Given the description of an element on the screen output the (x, y) to click on. 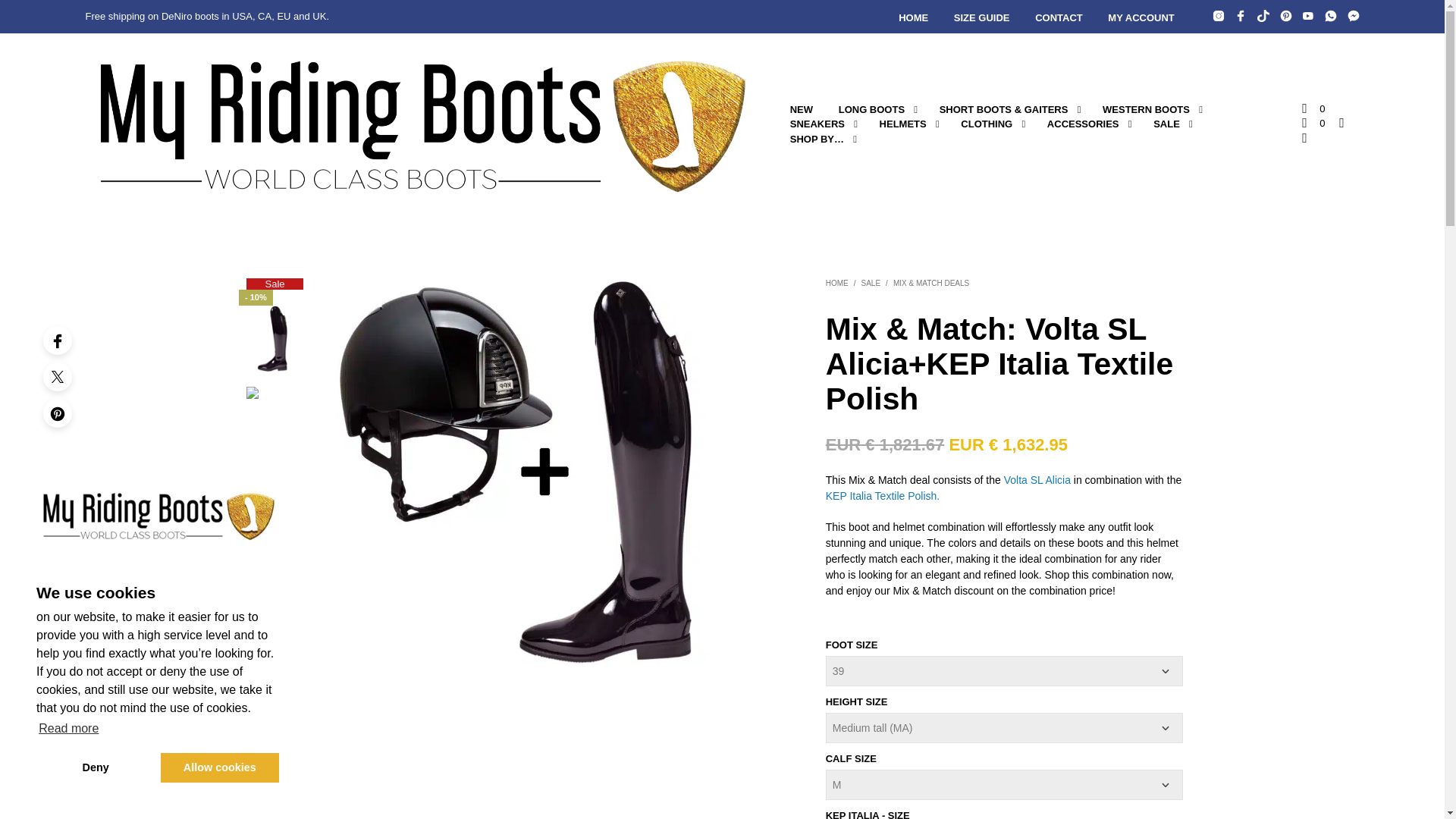
Read more (68, 728)
Allow cookies (219, 767)
Deny (95, 767)
